Given the description of an element on the screen output the (x, y) to click on. 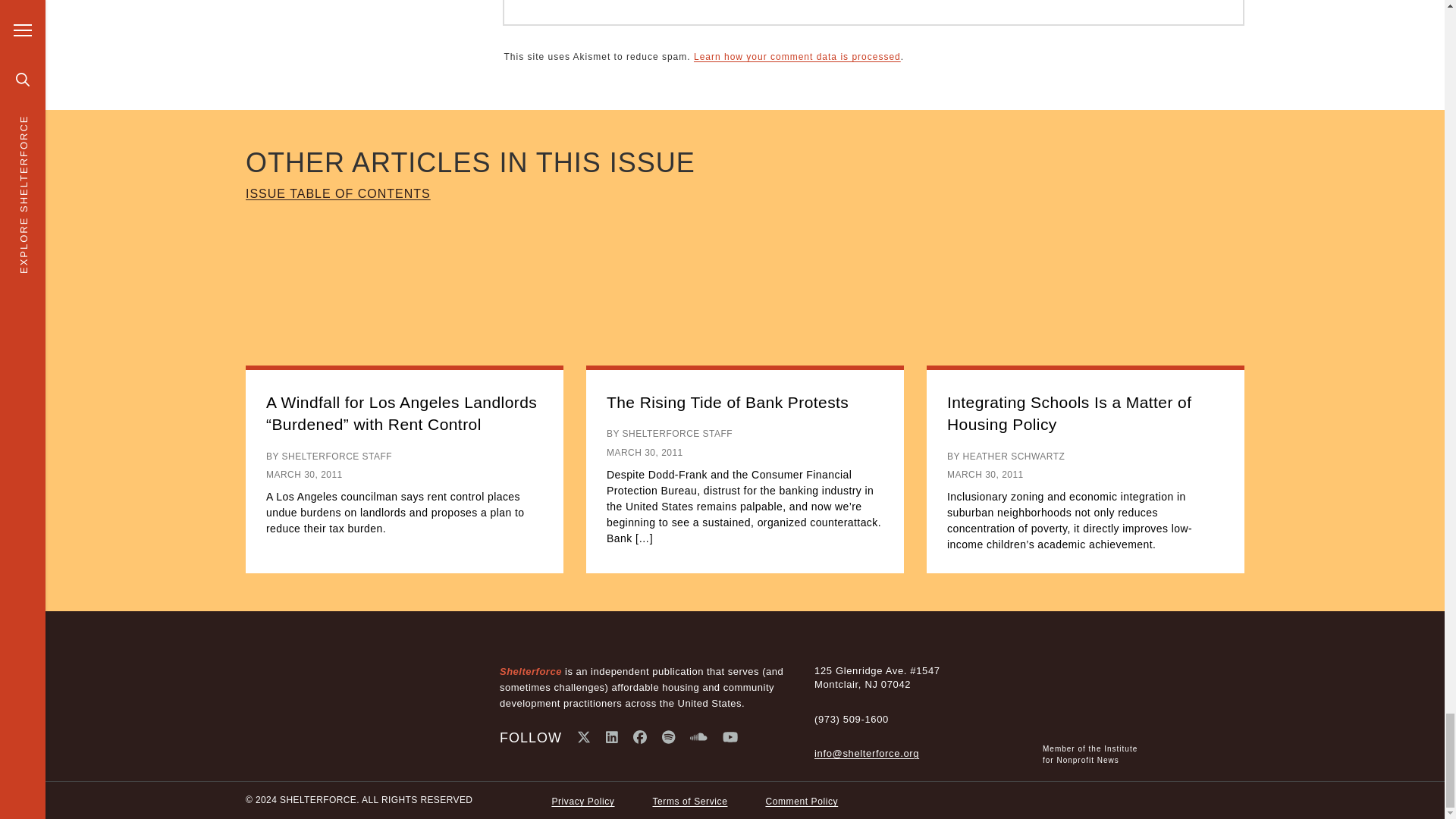
Twitter (583, 736)
Spotify (668, 736)
Soundcloud (698, 736)
Facebook (639, 736)
YouTube (730, 736)
